Given the description of an element on the screen output the (x, y) to click on. 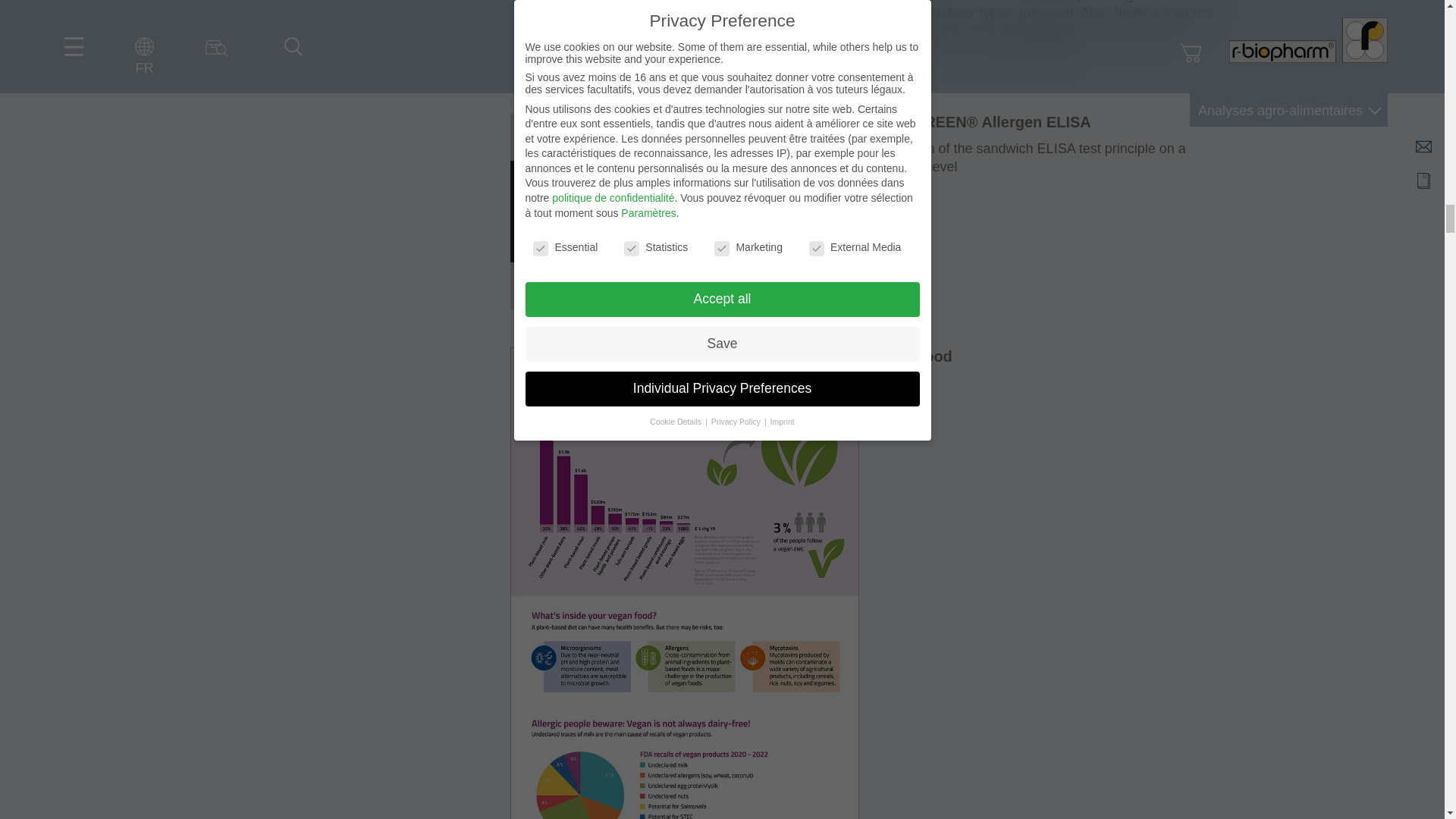
1 (631, 245)
